Given the description of an element on the screen output the (x, y) to click on. 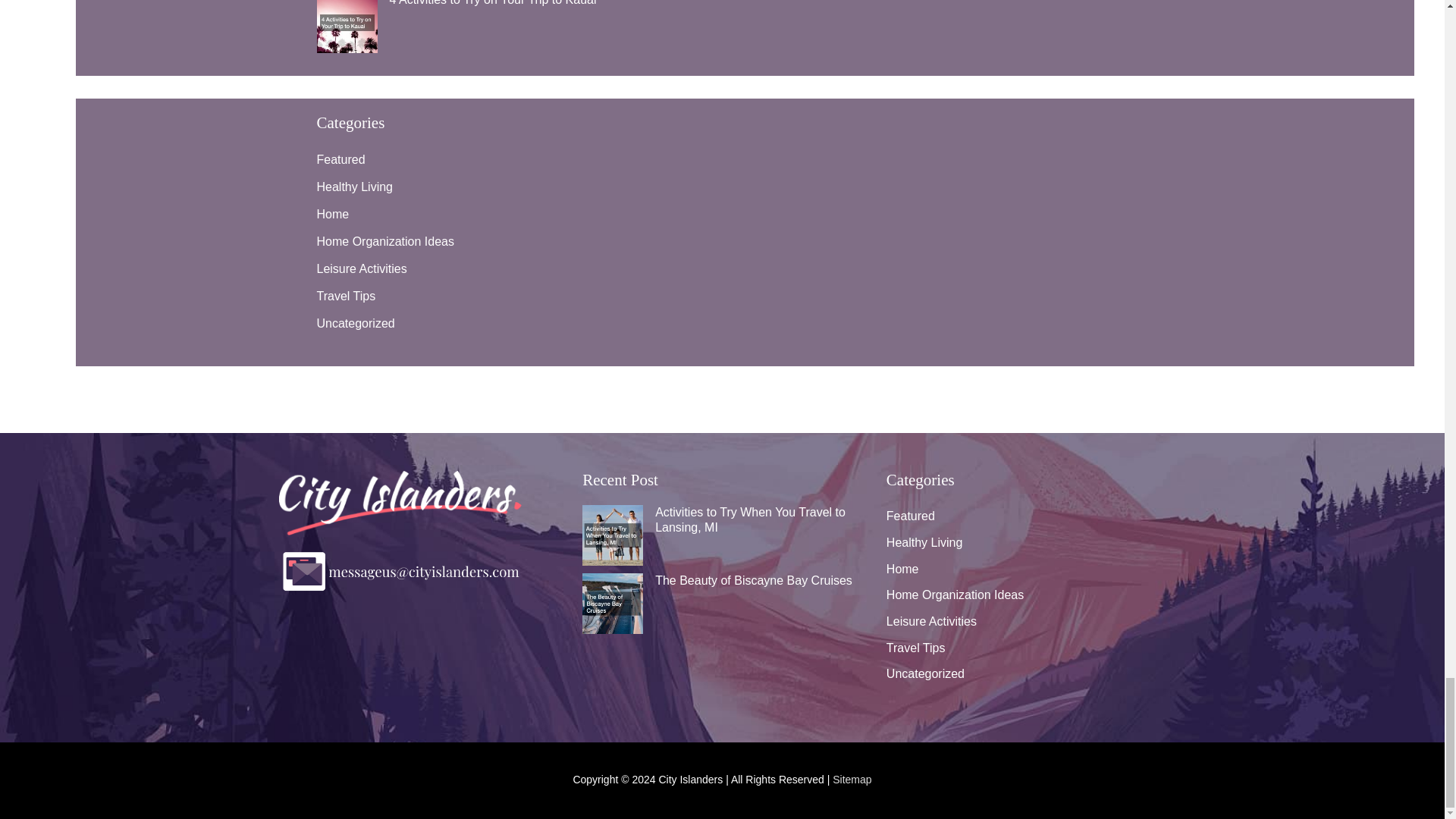
Featured (341, 159)
Healthy Living (355, 186)
4 Activities to Try on Your Trip to Kauai (493, 2)
Travel Tips (346, 295)
Home Organization Ideas (385, 241)
Leisure Activities (362, 268)
Uncategorized (355, 323)
Home (333, 214)
